Given the description of an element on the screen output the (x, y) to click on. 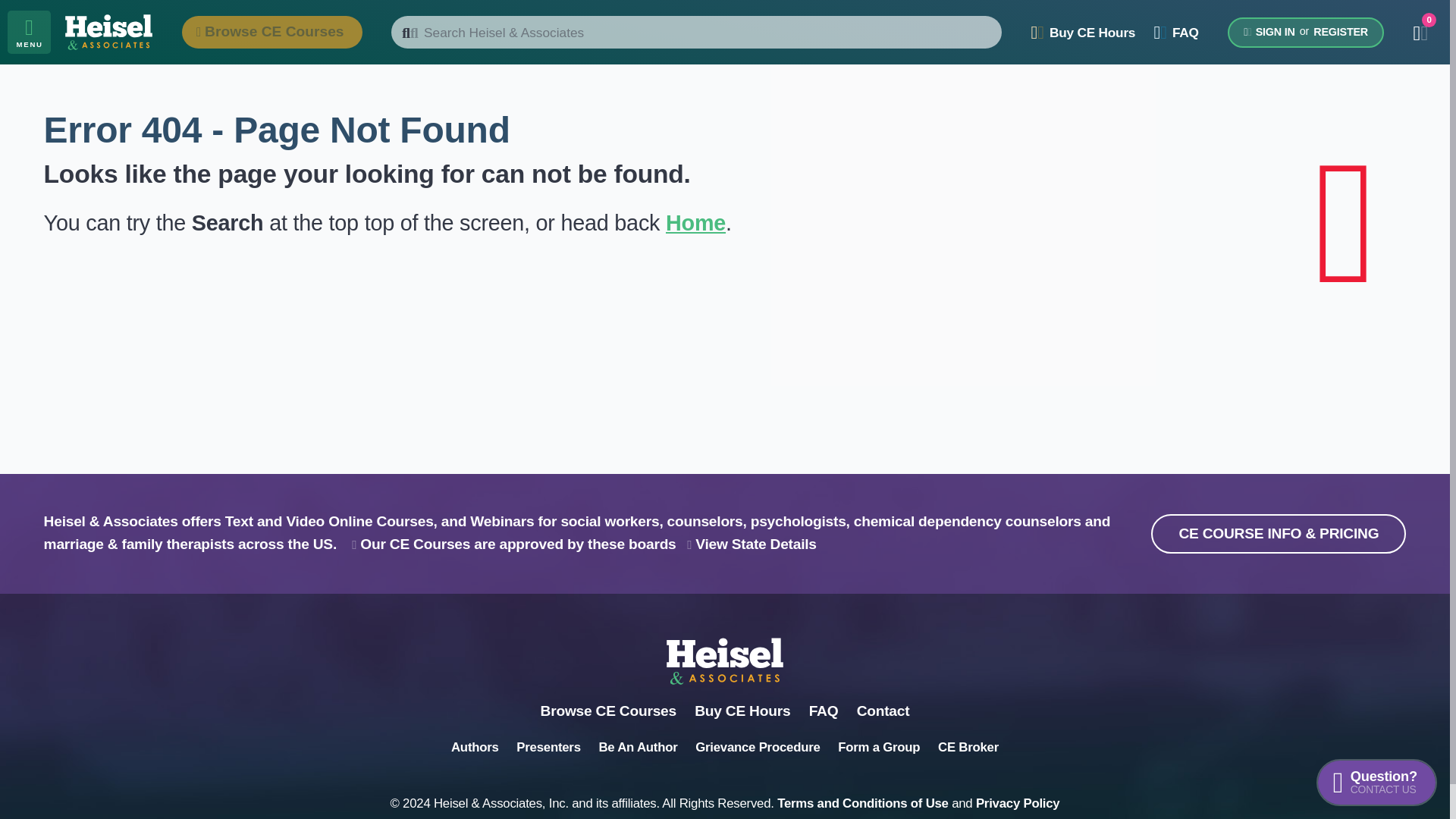
View State Details (751, 544)
Browse CE Courses (1305, 32)
Privacy Policy (608, 710)
Our CE Courses are approved by these boards (1017, 803)
FAQ (1375, 782)
Buy CE Hours (513, 544)
Terms and Conditions of Use (1176, 32)
Home (1082, 32)
